Given the description of an element on the screen output the (x, y) to click on. 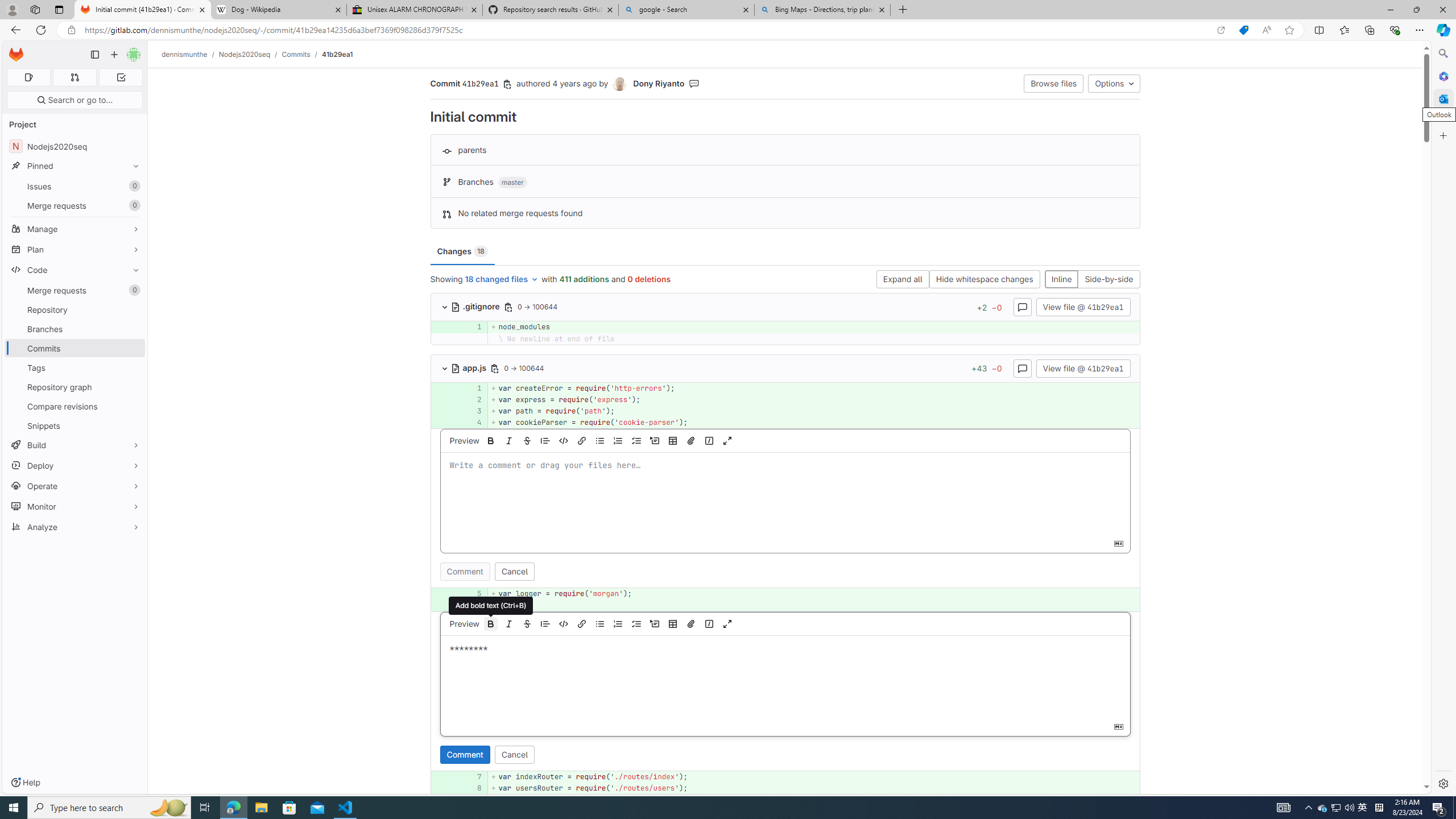
41b29ea1 (337, 53)
Deploy (74, 465)
Homepage (16, 54)
Manage (74, 228)
8 (471, 788)
Class: s16 (455, 368)
Comment (464, 754)
Class: s16 chevron-down (444, 368)
Add a comment to this line  (445, 788)
Changes 18 (462, 251)
